Given the description of an element on the screen output the (x, y) to click on. 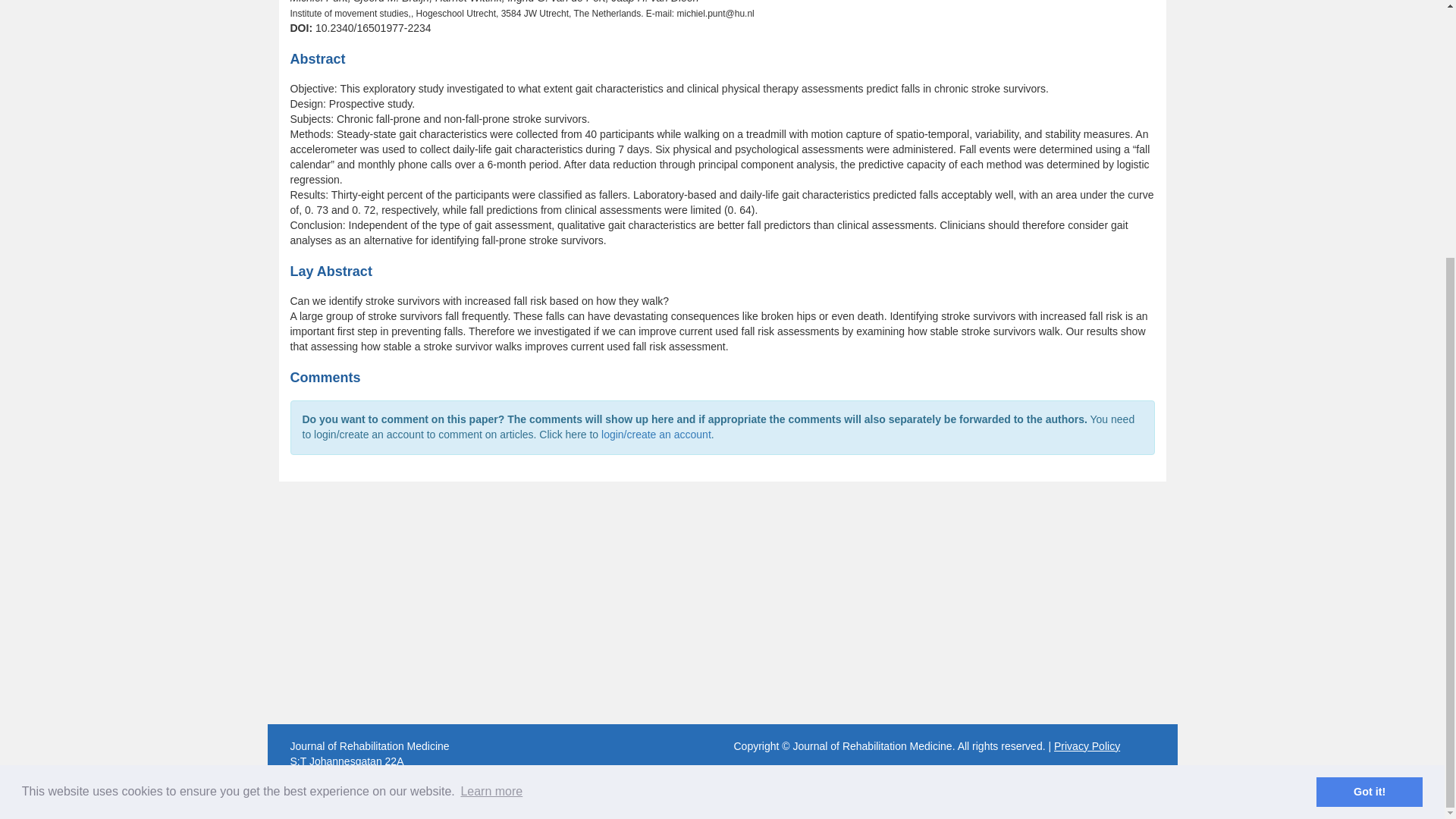
Privacy Policy (1086, 746)
Got it! (1369, 423)
Learn more (491, 423)
